Given the description of an element on the screen output the (x, y) to click on. 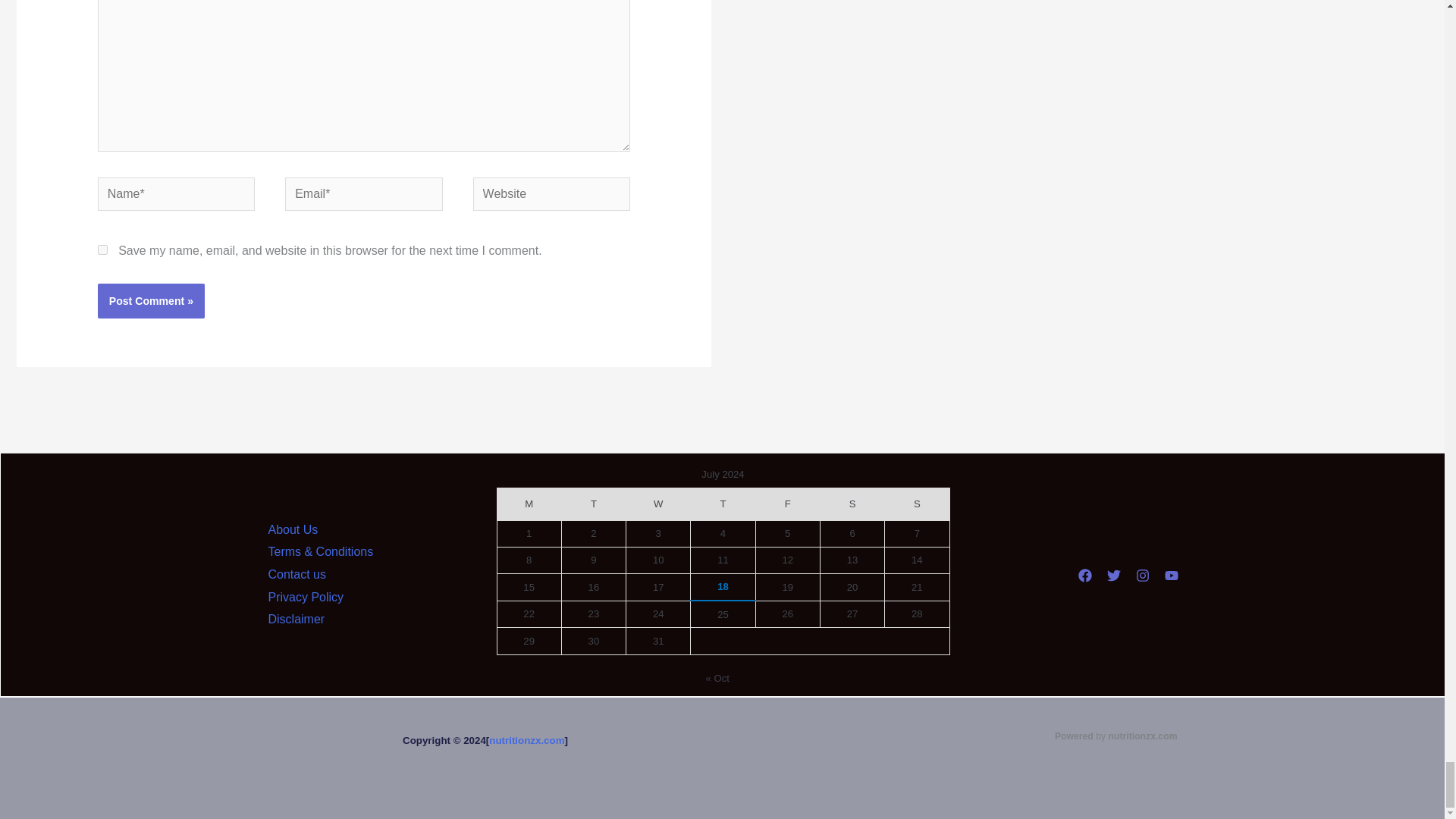
Tuesday (593, 504)
Saturday (851, 504)
Wednesday (658, 504)
Monday (528, 504)
Thursday (722, 504)
Friday (787, 504)
Sunday (917, 504)
yes (102, 249)
